Given the description of an element on the screen output the (x, y) to click on. 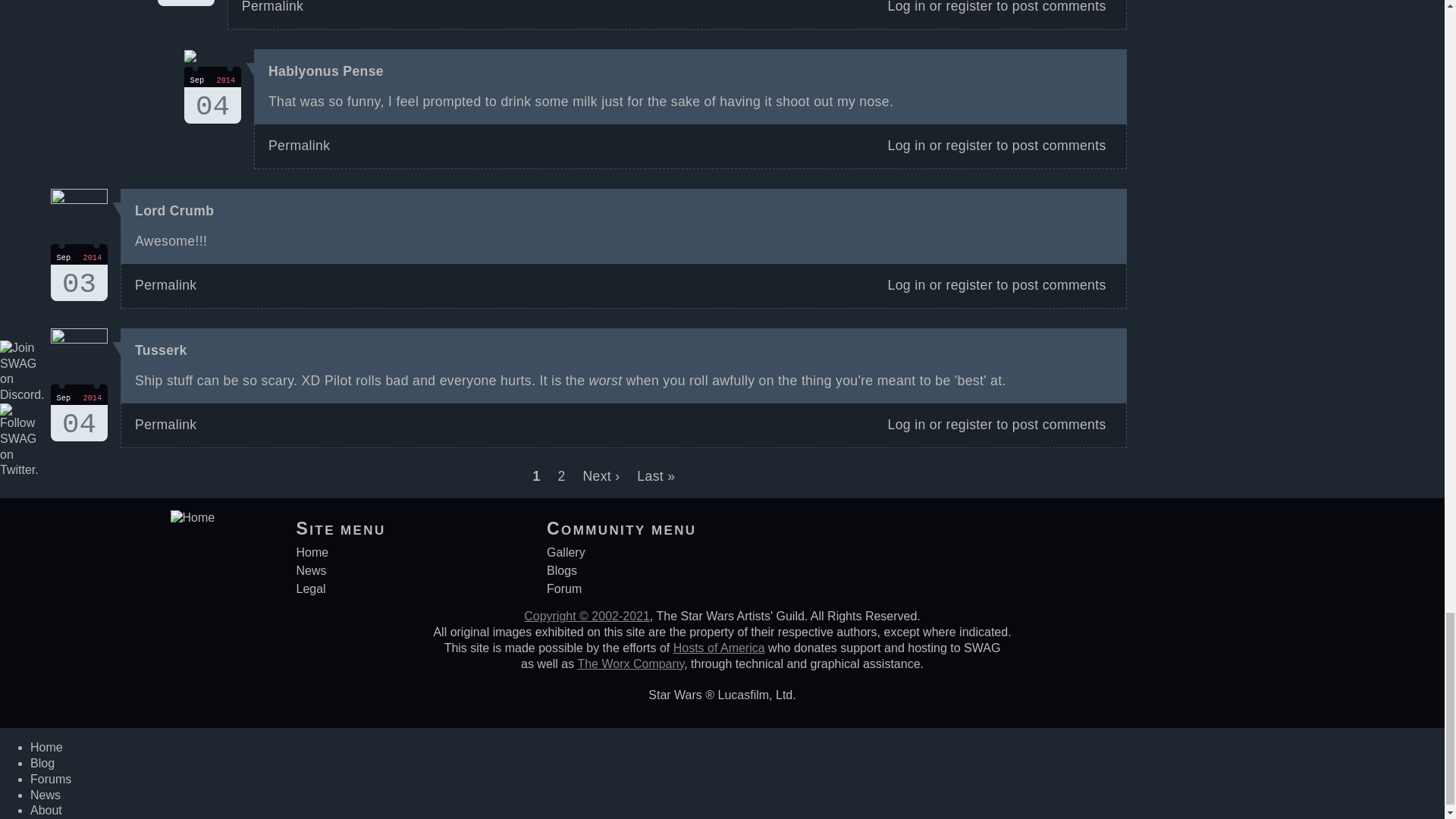
View user profile. (78, 412)
View user profile. (78, 272)
Go to next page (174, 210)
Go to last page (212, 94)
